Given the description of an element on the screen output the (x, y) to click on. 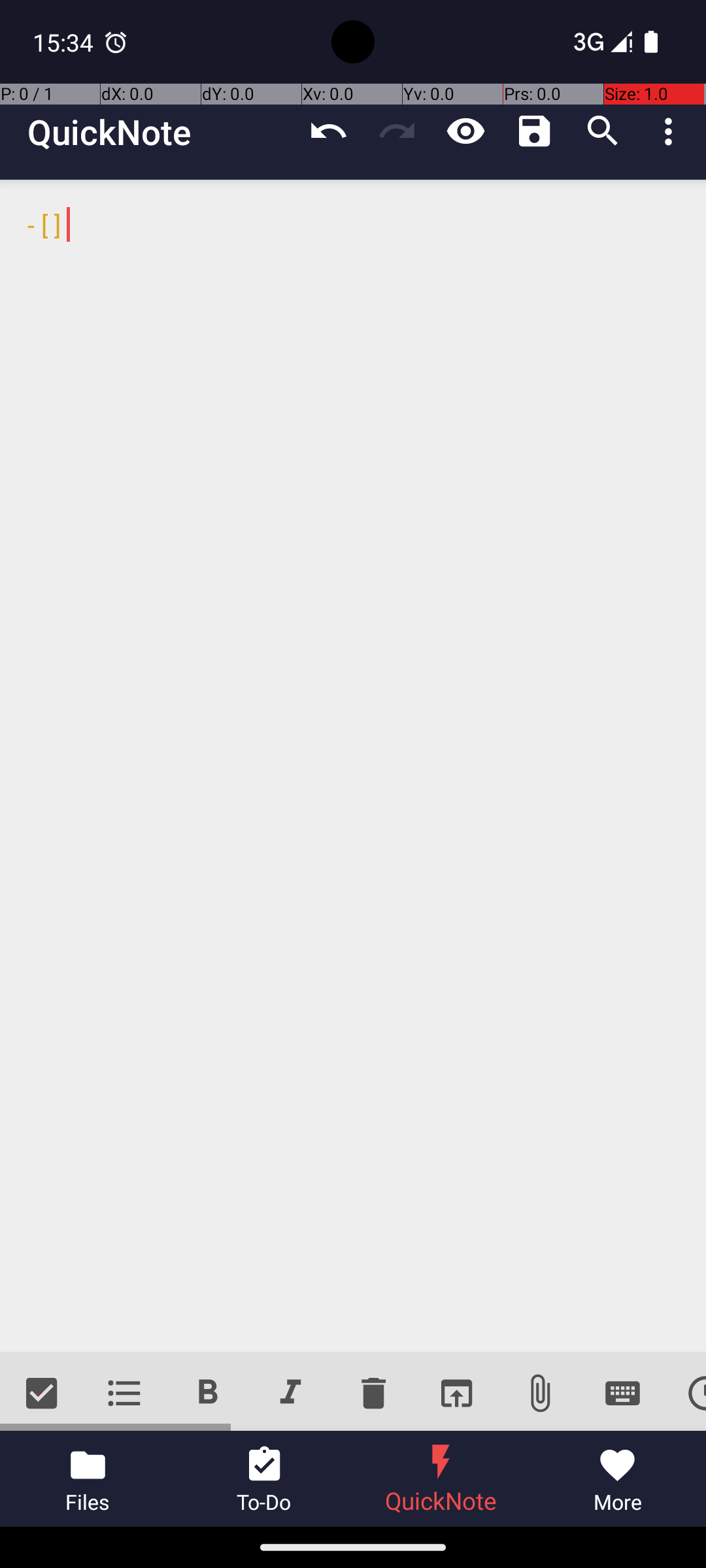
- [ ]  Element type: android.widget.EditText (353, 765)
